Given the description of an element on the screen output the (x, y) to click on. 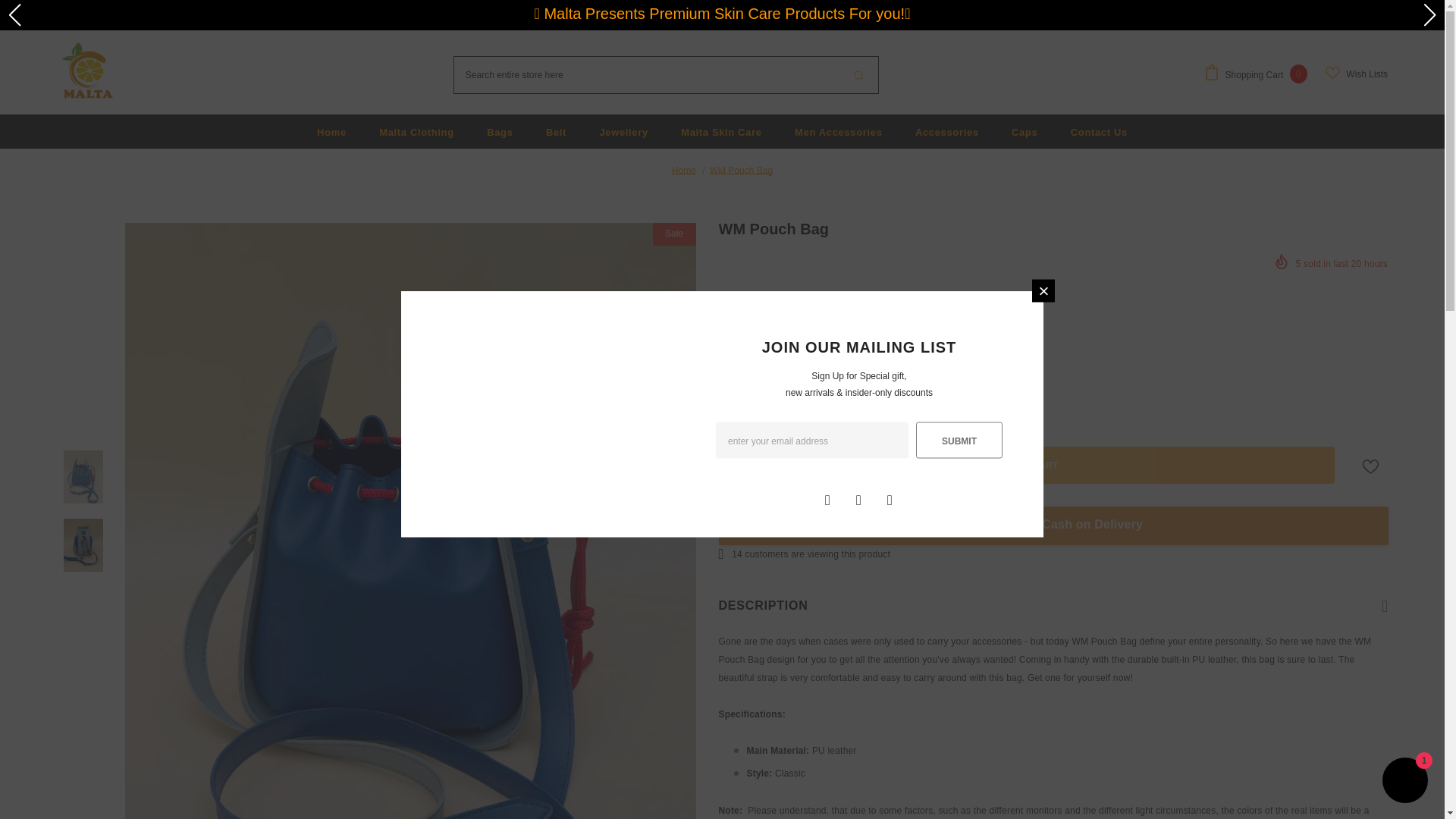
Contact Us (1098, 131)
Logo (86, 72)
Shopping Cart 0 (1259, 74)
Submit (959, 439)
Accessories (946, 131)
Add to cart (1027, 465)
1 (772, 389)
Jewellery (622, 131)
Malta Skin Care (721, 131)
Wish Lists (1355, 73)
Men Accessories (838, 131)
Malta Clothing (416, 131)
